Given the description of an element on the screen output the (x, y) to click on. 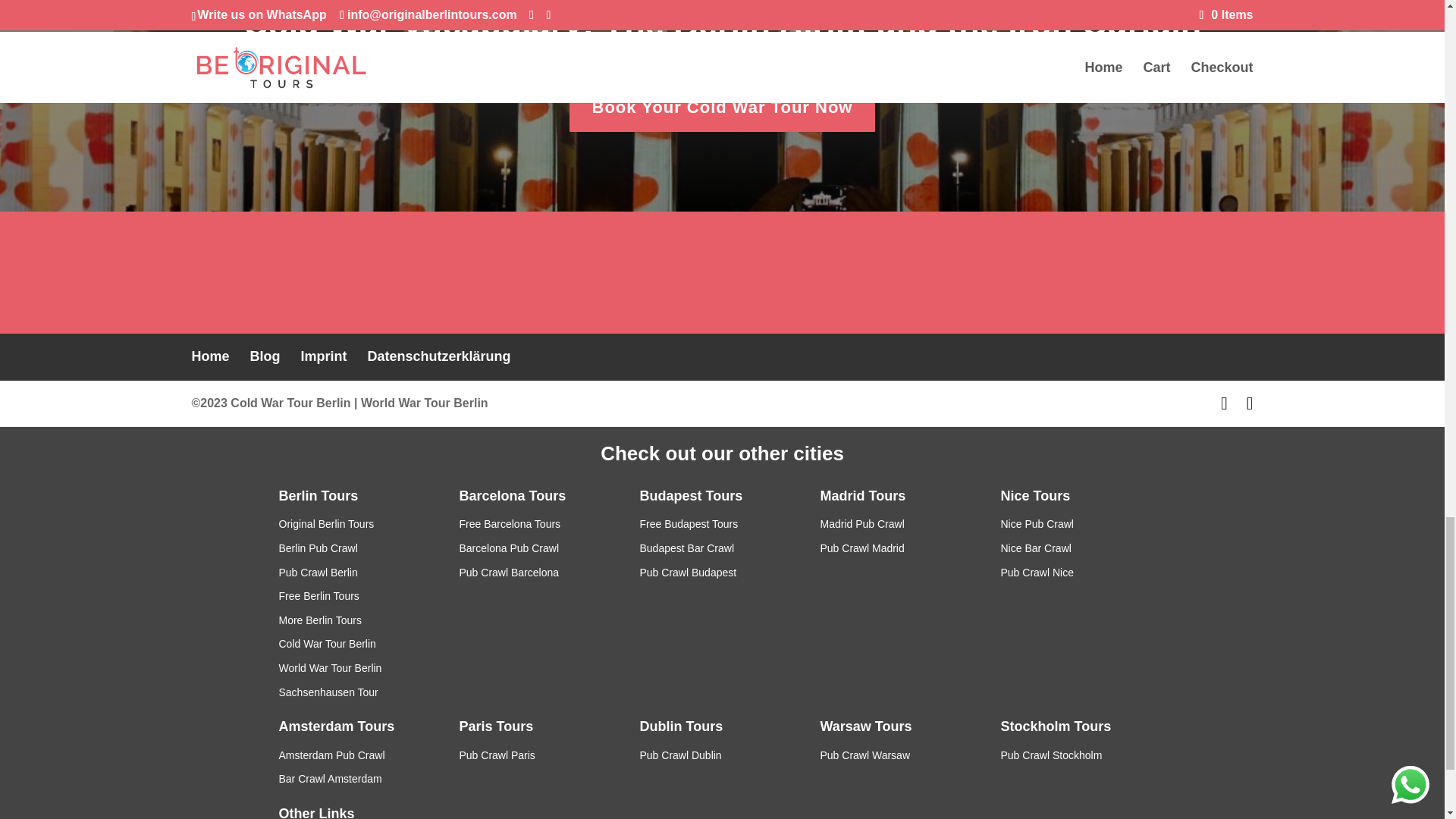
Free Berlin Tours (319, 595)
Cold War Tour Berlin (290, 402)
Pub Crawl Barcelona (509, 572)
Blog (265, 355)
Original Berlin Tours (326, 523)
Berlin Pub Crawl (318, 548)
Free Barcelona Tours (510, 523)
Barcelona Pub Crawl (509, 548)
Home (209, 355)
World War Tour Berlin (330, 667)
